Given the description of an element on the screen output the (x, y) to click on. 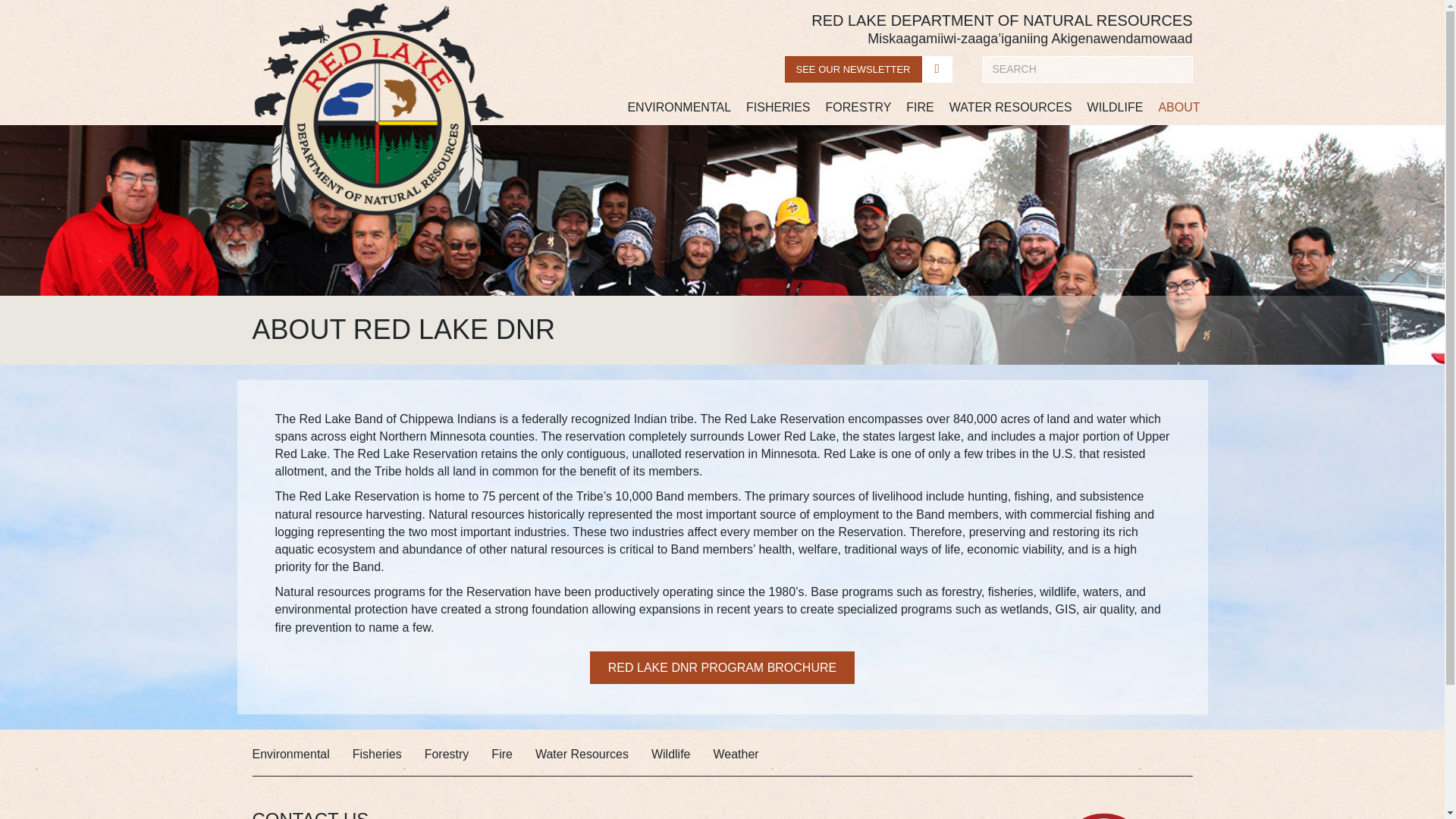
ENVIRONMENTAL (679, 107)
SEE OUR NEWSLETTER (868, 69)
Redlake DNR (378, 109)
FORESTRY (858, 107)
FISHERIES (777, 107)
FIRE (919, 107)
logo-red-lake-nation (1104, 814)
WILDLIFE (1115, 107)
WATER RESOURCES (1011, 107)
Type and press Enter to search. (1087, 69)
